Given the description of an element on the screen output the (x, y) to click on. 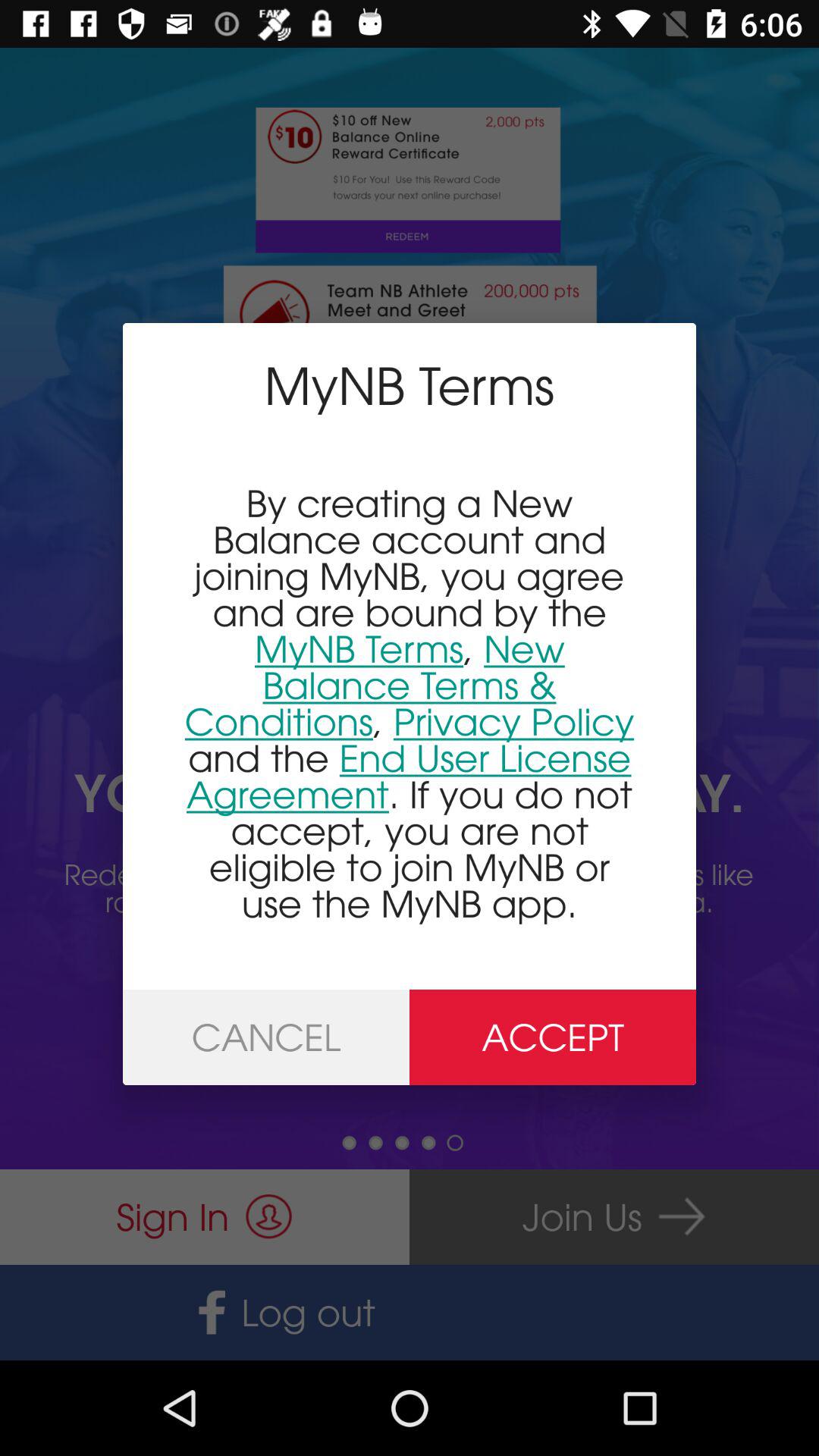
select the cancel (265, 1037)
